Given the description of an element on the screen output the (x, y) to click on. 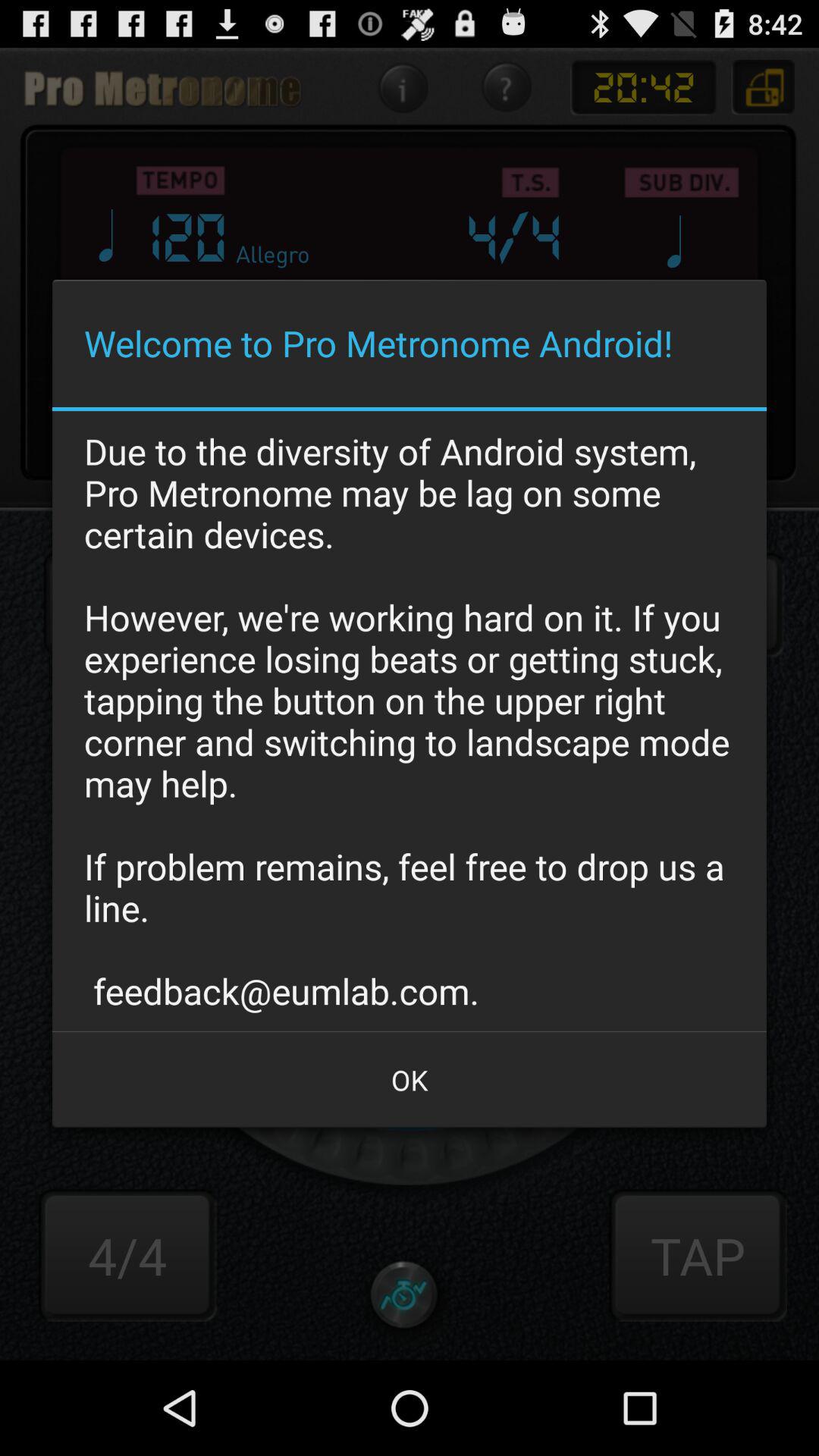
click app below due to the item (409, 1079)
